Given the description of an element on the screen output the (x, y) to click on. 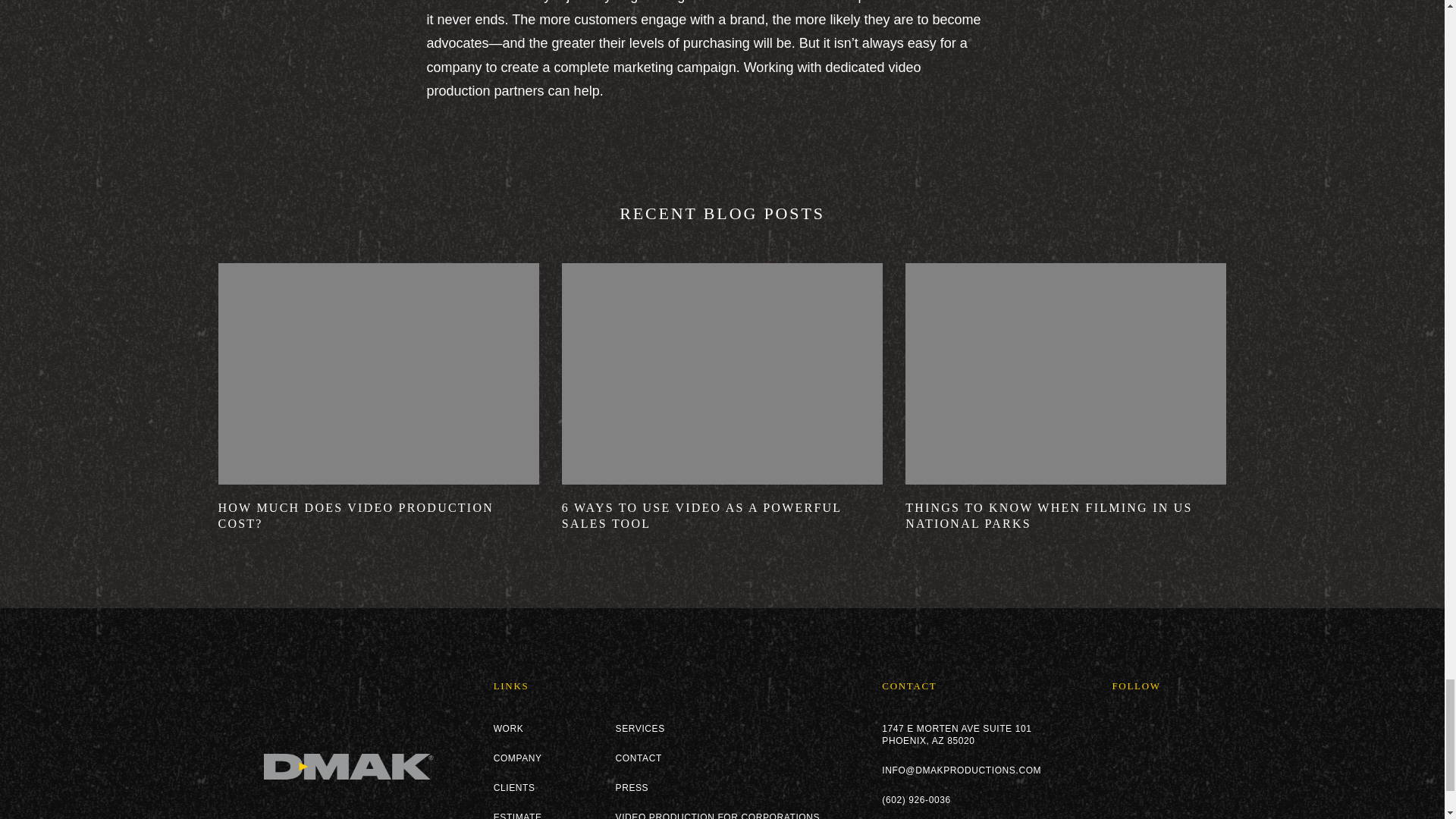
HOW MUCH DOES VIDEO PRODUCTION COST? (378, 515)
